Given the description of an element on the screen output the (x, y) to click on. 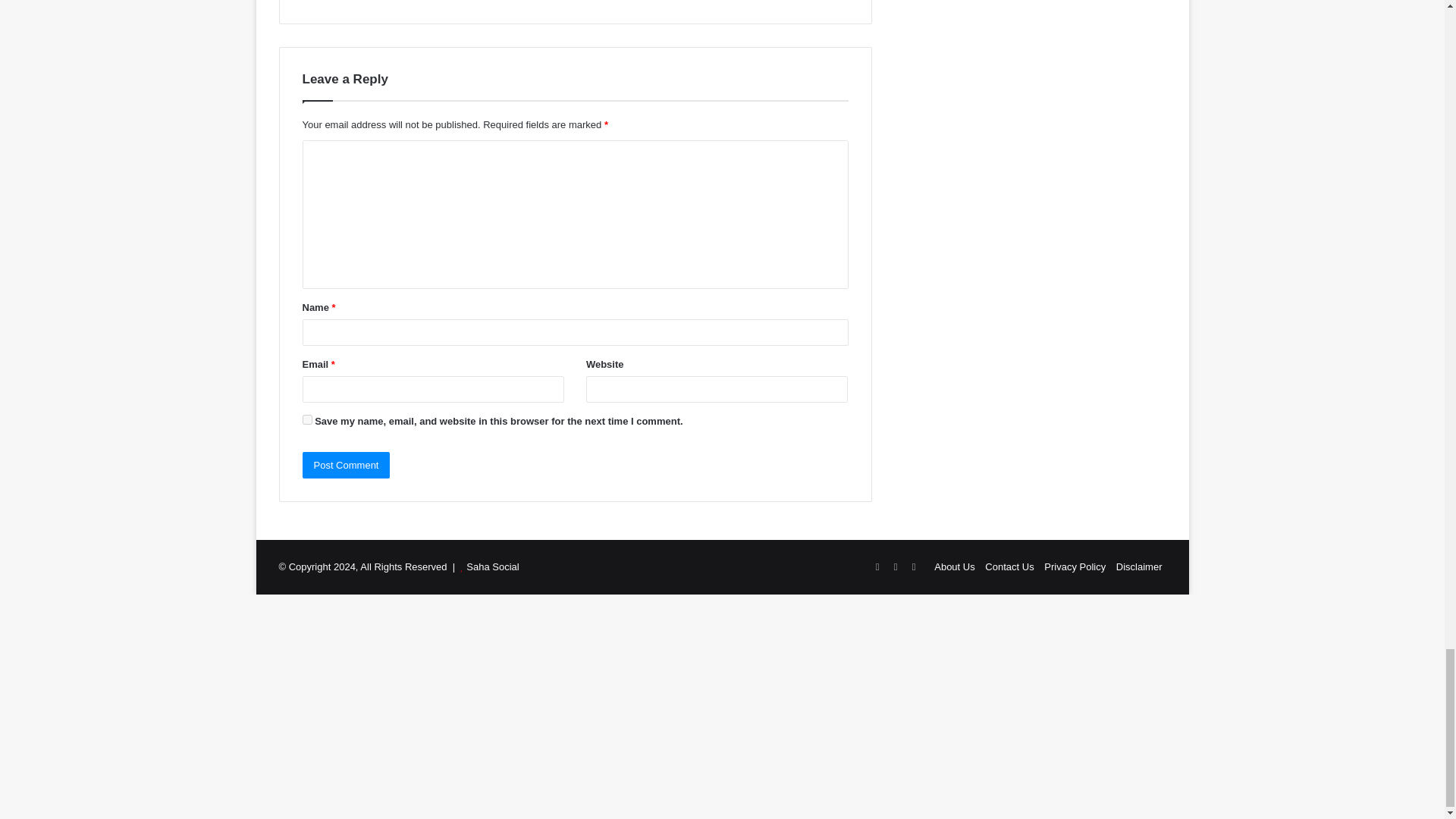
yes (306, 419)
Post Comment (345, 465)
